Given the description of an element on the screen output the (x, y) to click on. 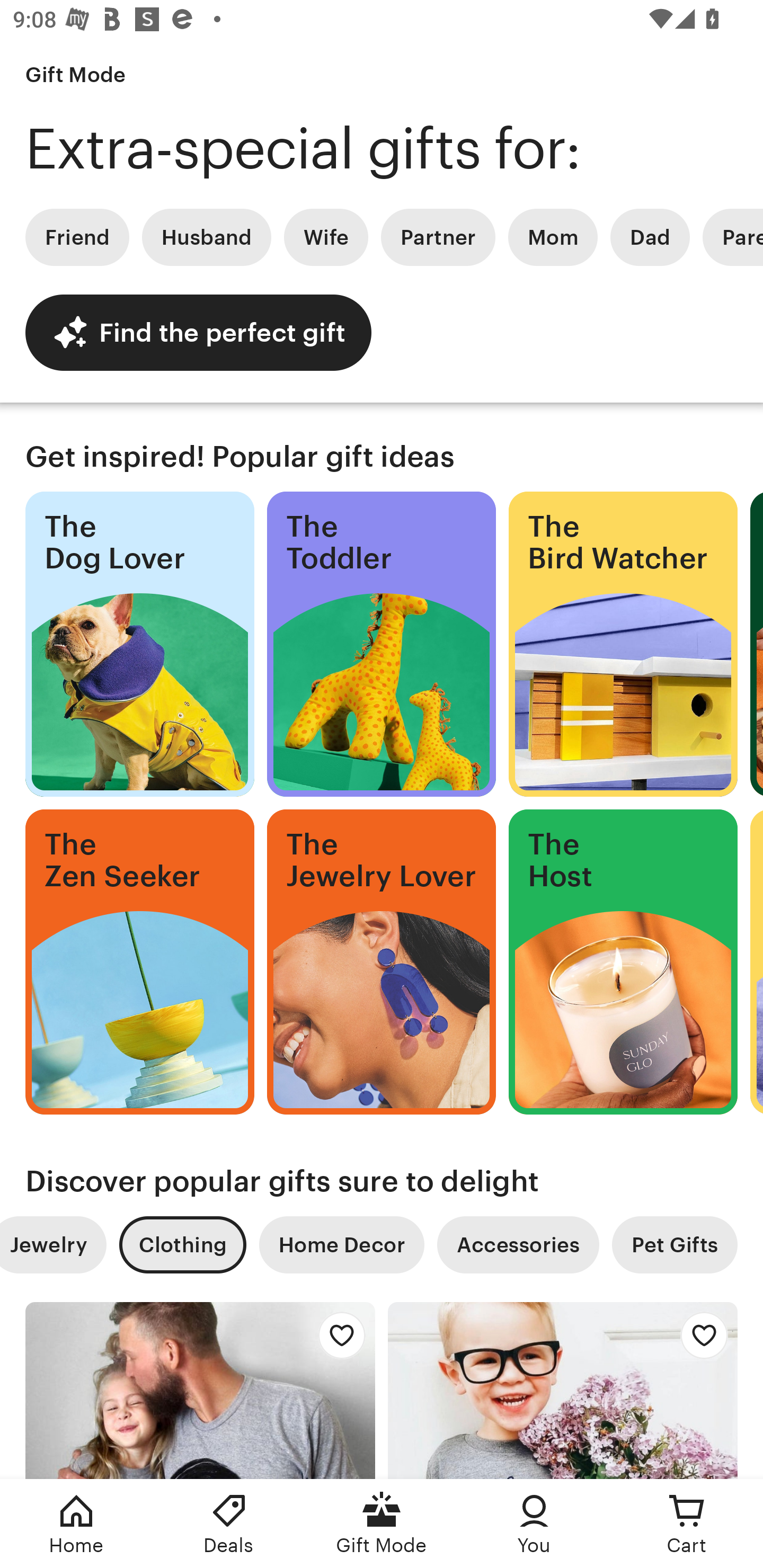
Friend (76, 237)
Husband (206, 237)
Wife (325, 237)
Partner (437, 237)
Mom (552, 237)
Dad (649, 237)
Find the perfect gift (198, 332)
The Dog Lover (139, 644)
The Toddler (381, 644)
The Bird Watcher (622, 644)
The Zen Seeker (139, 961)
The Jewelry Lover (381, 961)
The Host (622, 961)
Jewelry (53, 1244)
Clothing (182, 1244)
Home Decor (341, 1244)
Accessories (517, 1244)
Pet Gifts (674, 1244)
Home (76, 1523)
Deals (228, 1523)
You (533, 1523)
Cart (686, 1523)
